Given the description of an element on the screen output the (x, y) to click on. 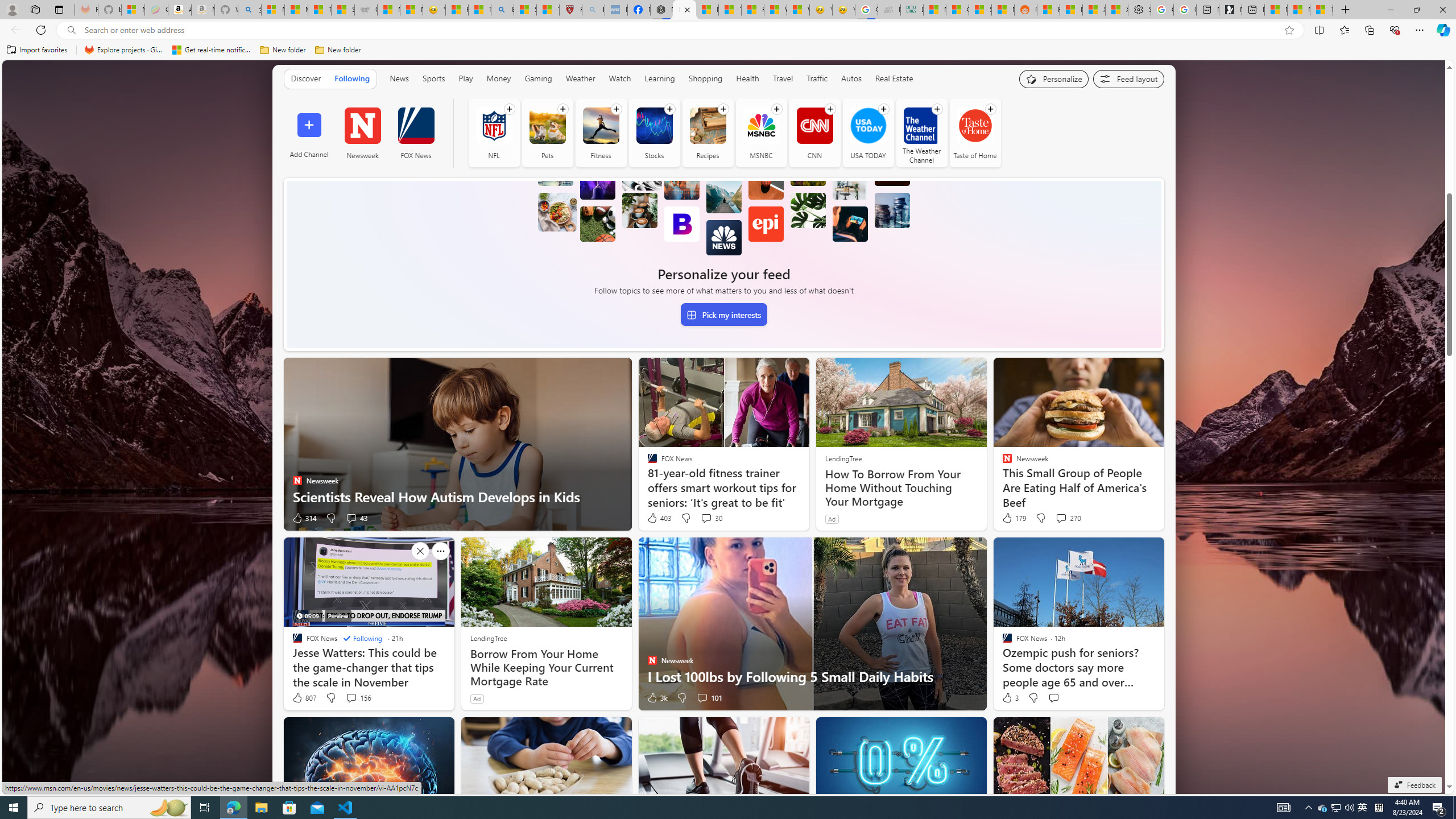
NFL (493, 133)
Favorites bar (728, 49)
New folder (337, 49)
View comments 43 Comment (355, 517)
Taste of Home (975, 133)
